Given the description of an element on the screen output the (x, y) to click on. 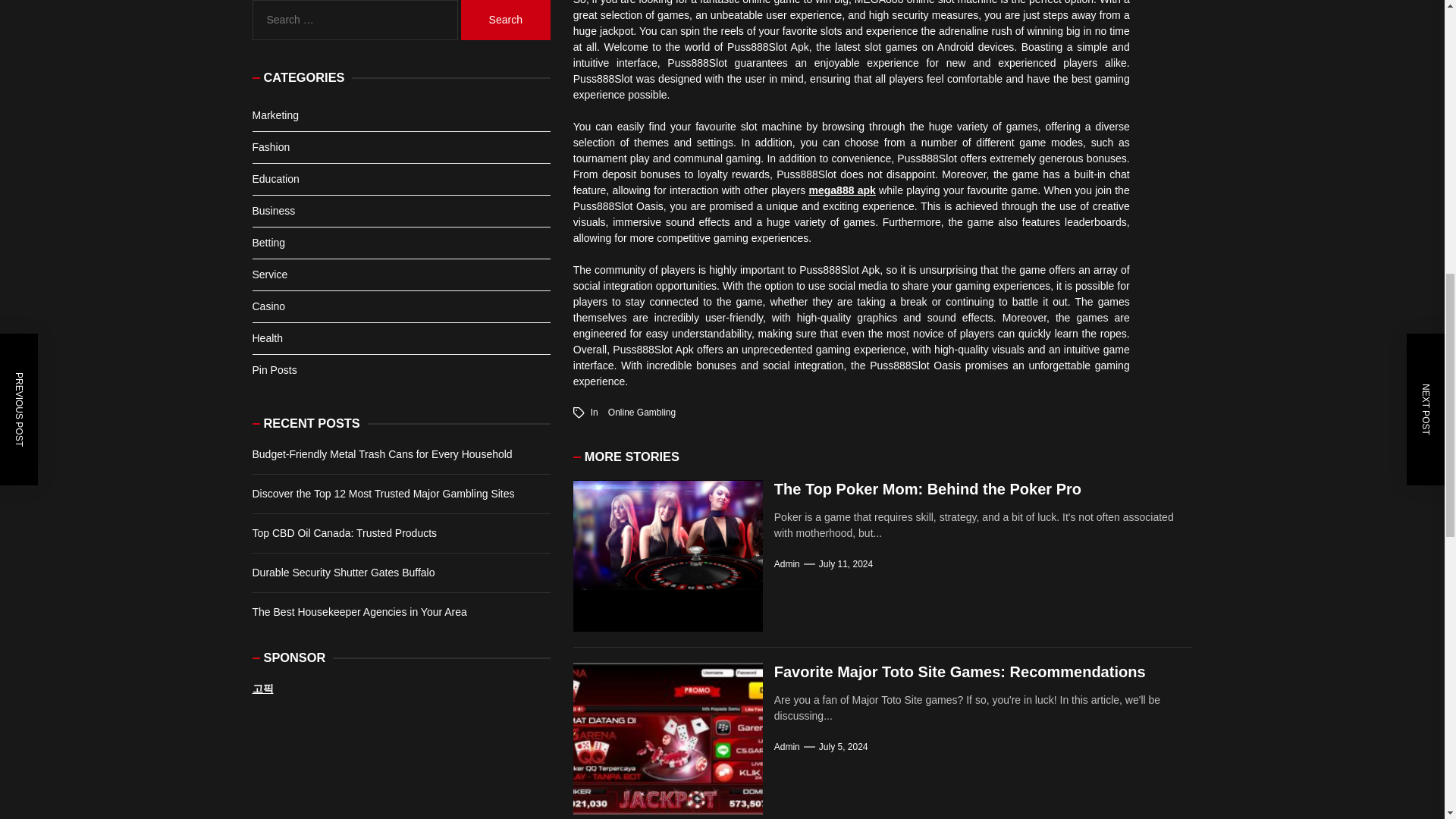
mega888 apk (842, 190)
Online Gambling (641, 412)
